Given the description of an element on the screen output the (x, y) to click on. 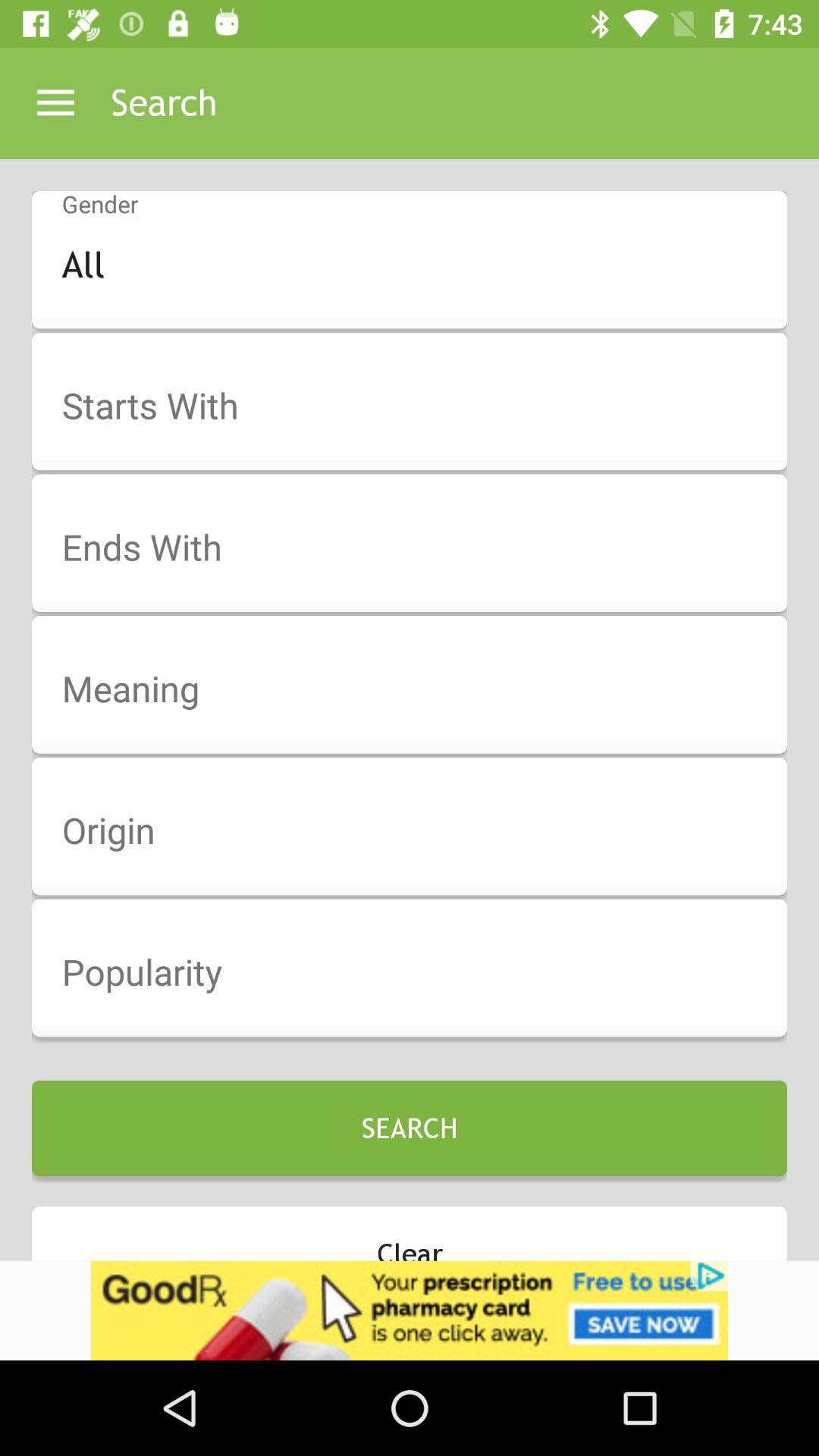
sounds the meaning of a name (419, 690)
